Given the description of an element on the screen output the (x, y) to click on. 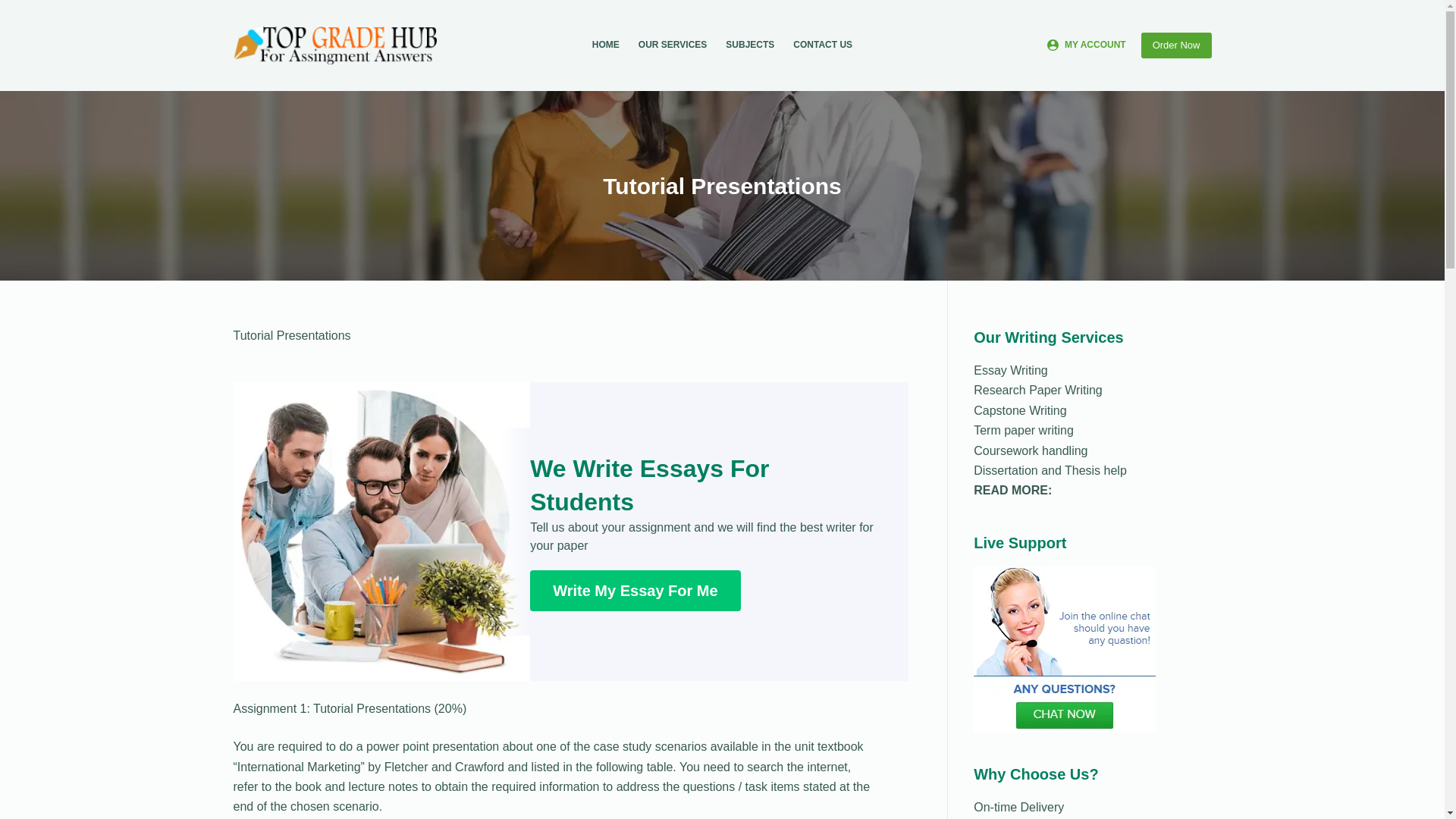
Write My Essay For Me (634, 590)
Skip to content (15, 7)
MY ACCOUNT (1085, 45)
Order Now (1176, 45)
OUR SERVICES (672, 45)
READ MORE: (1012, 490)
Tutorial Presentations (722, 185)
